Given the description of an element on the screen output the (x, y) to click on. 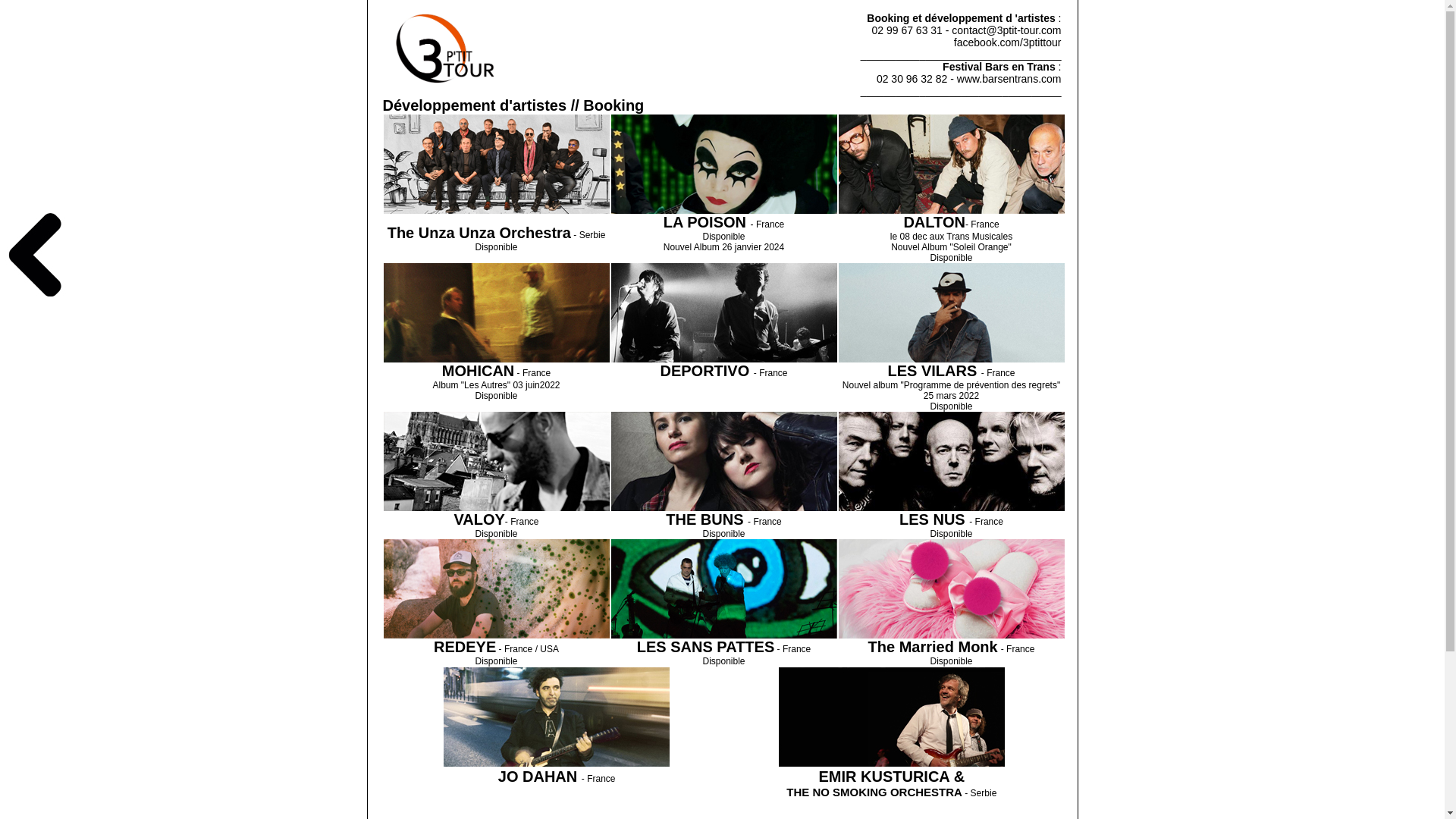
LA POISON Element type: text (706, 221)
JO DAHAN Element type: text (539, 776)
THE BUNS Element type: text (706, 521)
The Married Monk Element type: text (932, 646)
MOHICAN Element type: text (478, 370)
DEPORTIVO Element type: text (706, 370)
LES VILARS Element type: text (933, 370)
le 08 dec aux Trans Musicales Element type: text (951, 236)
The Unza Unza Orchestra Element type: text (479, 232)
LES SANS PATTES Element type: text (706, 648)
VALOY Element type: text (478, 519)
contact@3ptit-tour.com Element type: text (1005, 30)
LES NUS Element type: text (934, 519)
www.barsentrans.com Element type: text (1009, 78)
- Element type: text (966, 222)
DALTON Element type: text (933, 221)
facebook.com/3ptittour Element type: text (1007, 42)
EMIR KUSTURICA &
THE NO SMOKING ORCHESTRA Element type: text (875, 783)
- Element type: text (506, 520)
